Given the description of an element on the screen output the (x, y) to click on. 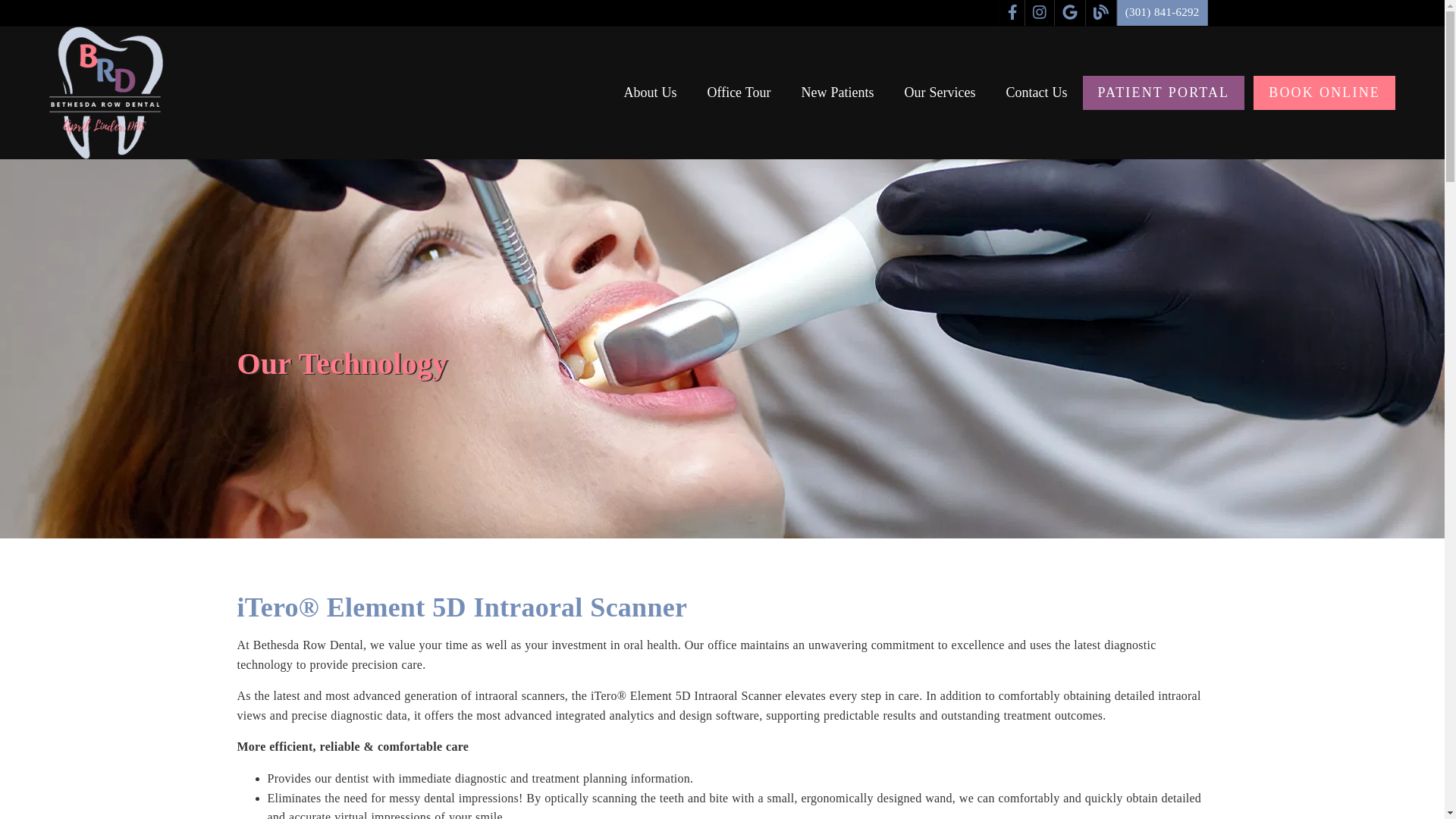
New Patients (838, 92)
Our Services (939, 92)
About Us (650, 92)
Office Tour (738, 92)
